Given the description of an element on the screen output the (x, y) to click on. 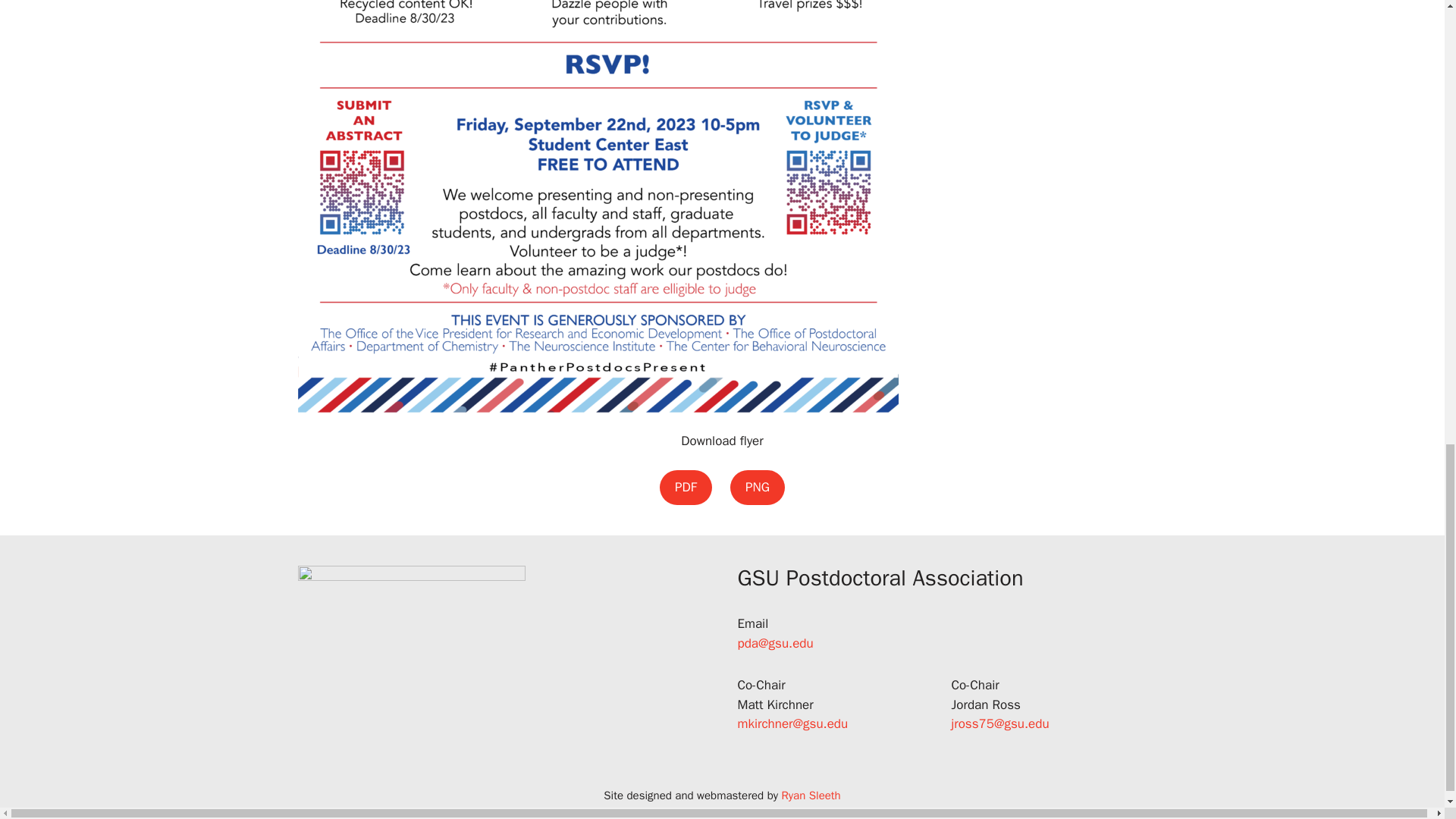
Ryan Sleeth (811, 795)
PDF (685, 487)
PNG (757, 487)
